Given the description of an element on the screen output the (x, y) to click on. 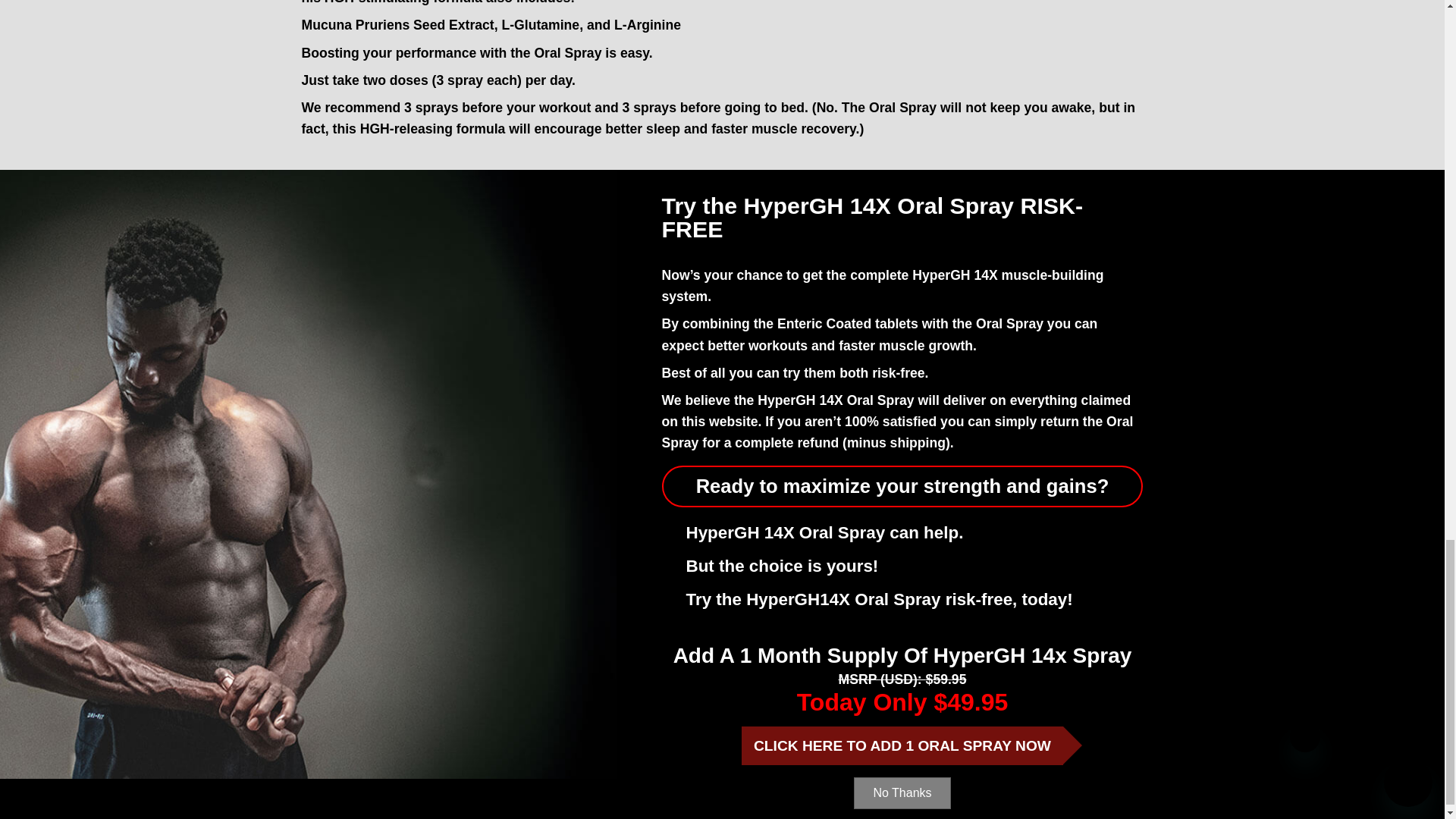
CLICK HERE TO ADD 1 ORAL SPRAY NOW (901, 745)
No Thanks (901, 793)
